Given the description of an element on the screen output the (x, y) to click on. 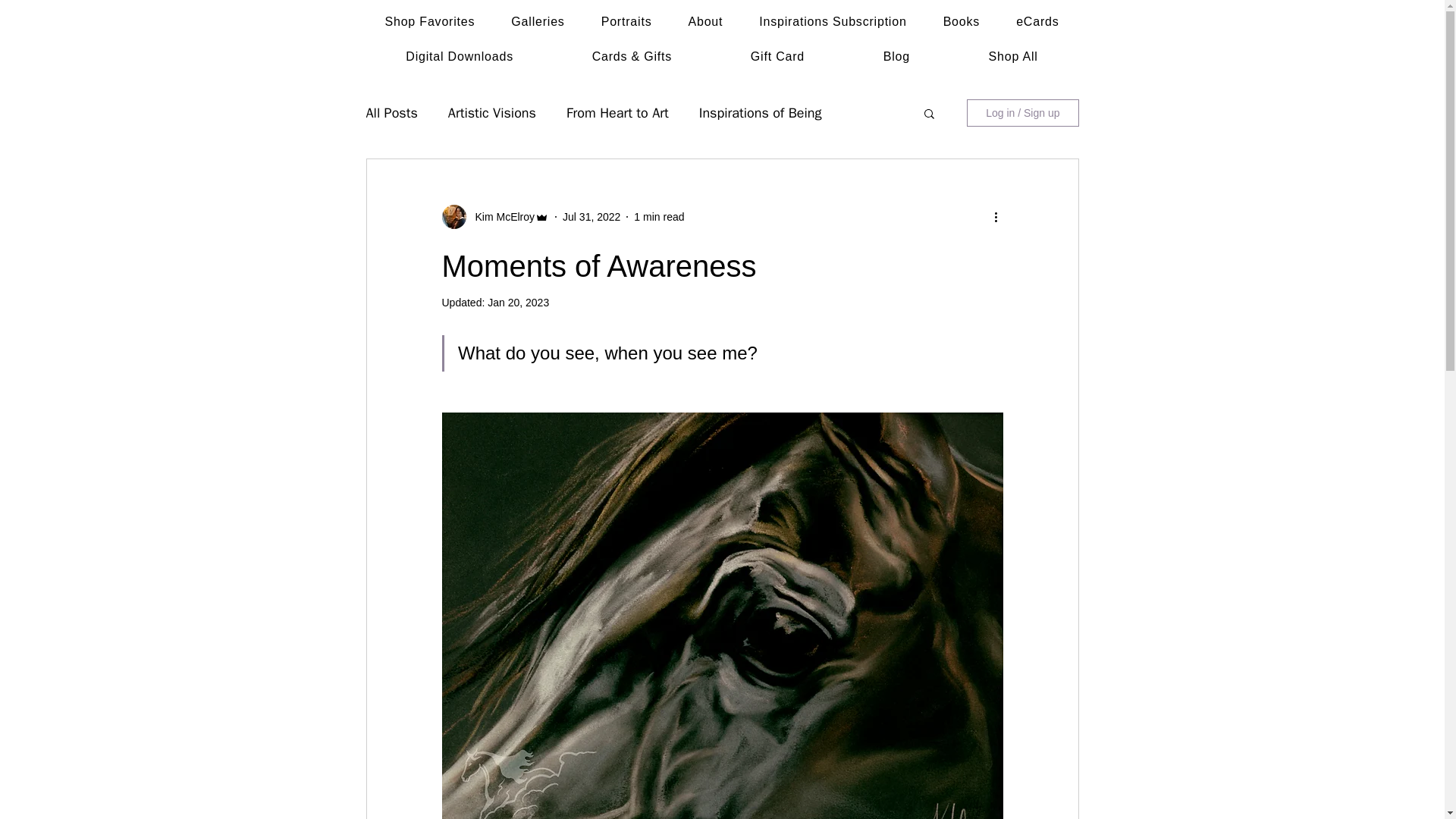
Shop Favorites (429, 21)
Galleries (537, 21)
Jan 20, 2023 (517, 302)
Portraits (626, 21)
Jul 31, 2022 (591, 216)
1 min read (658, 216)
Kim McElroy (499, 217)
